Given the description of an element on the screen output the (x, y) to click on. 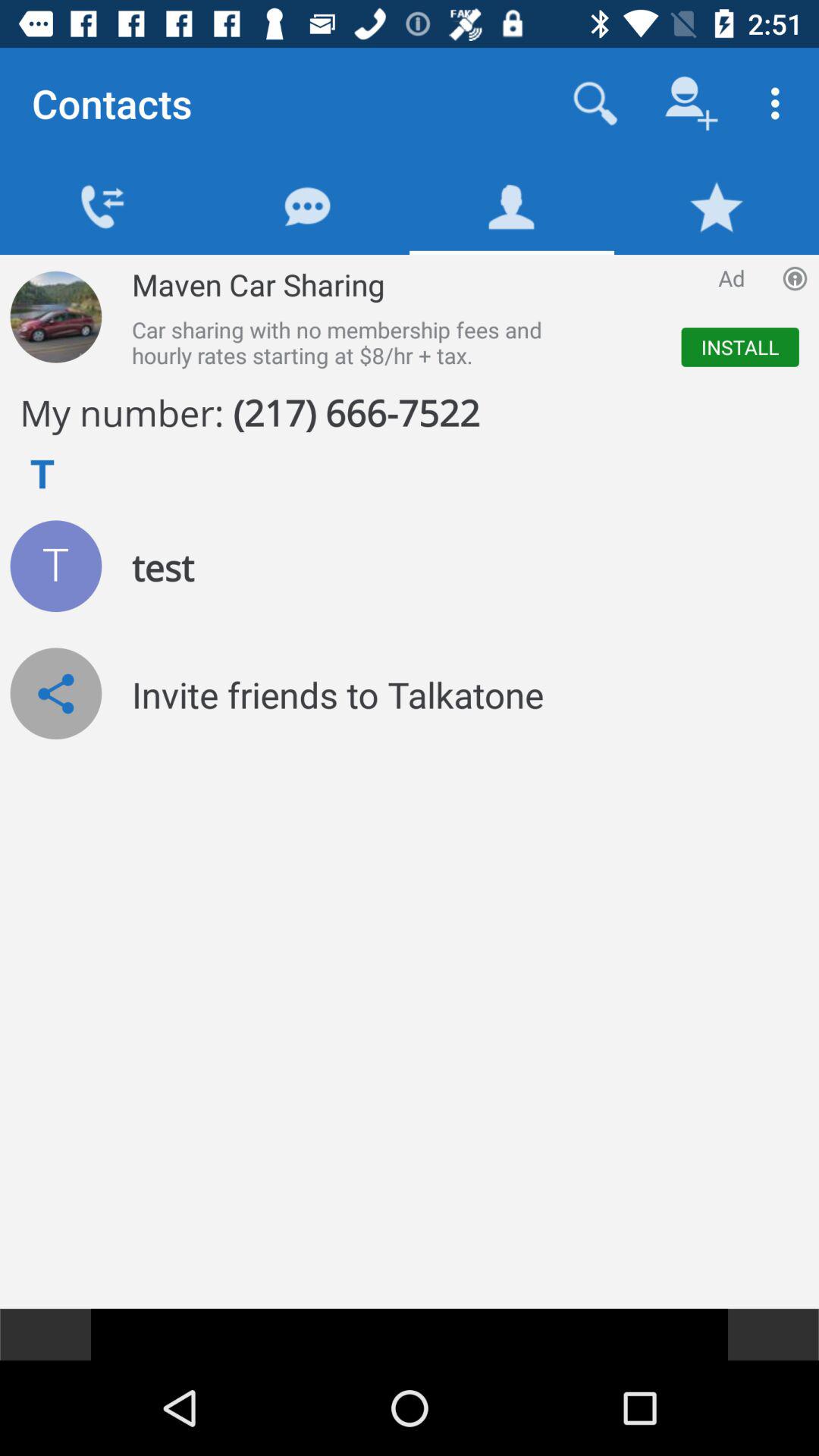
search contacts (595, 103)
